Given the description of an element on the screen output the (x, y) to click on. 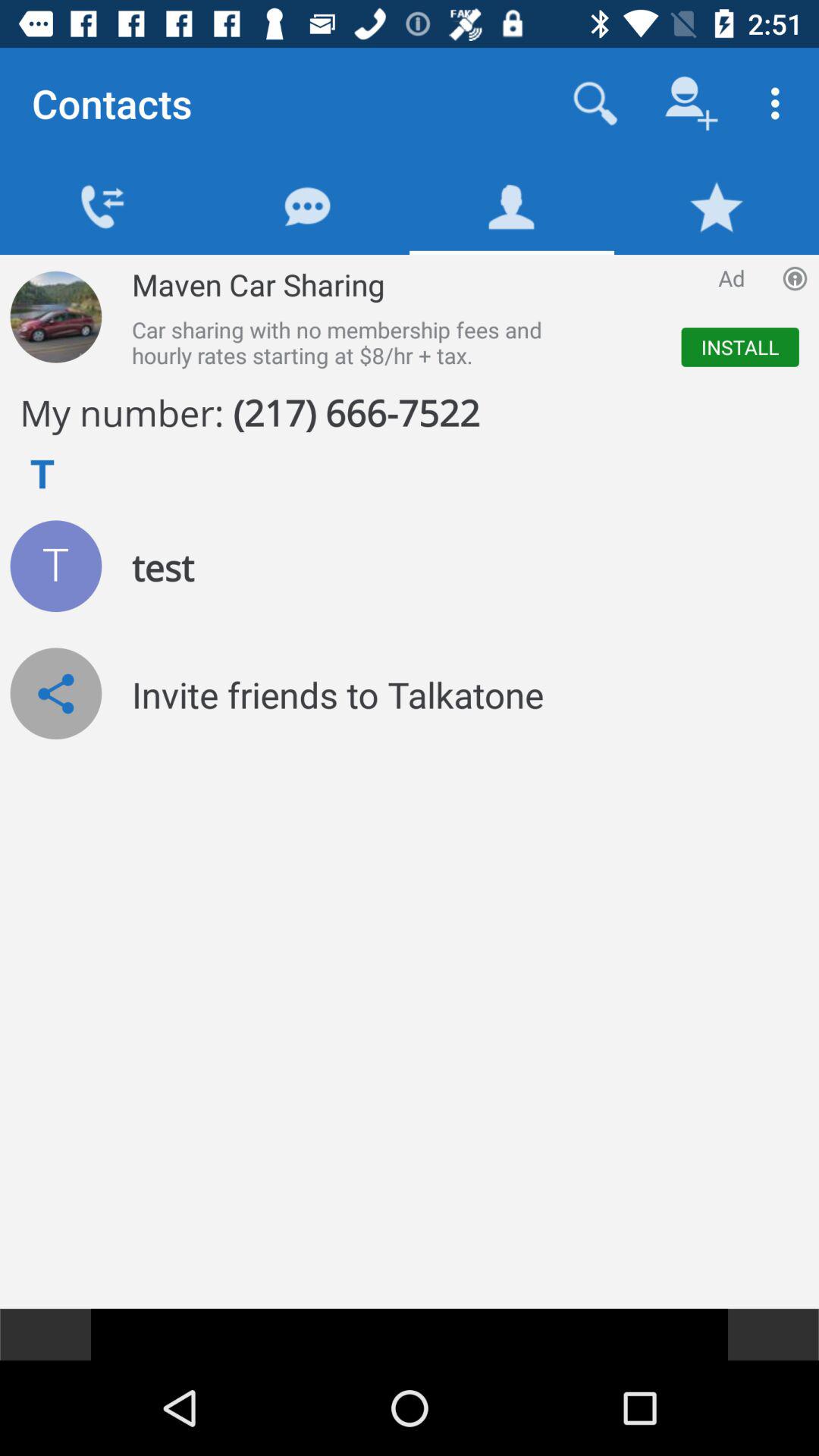
search contacts (595, 103)
